Given the description of an element on the screen output the (x, y) to click on. 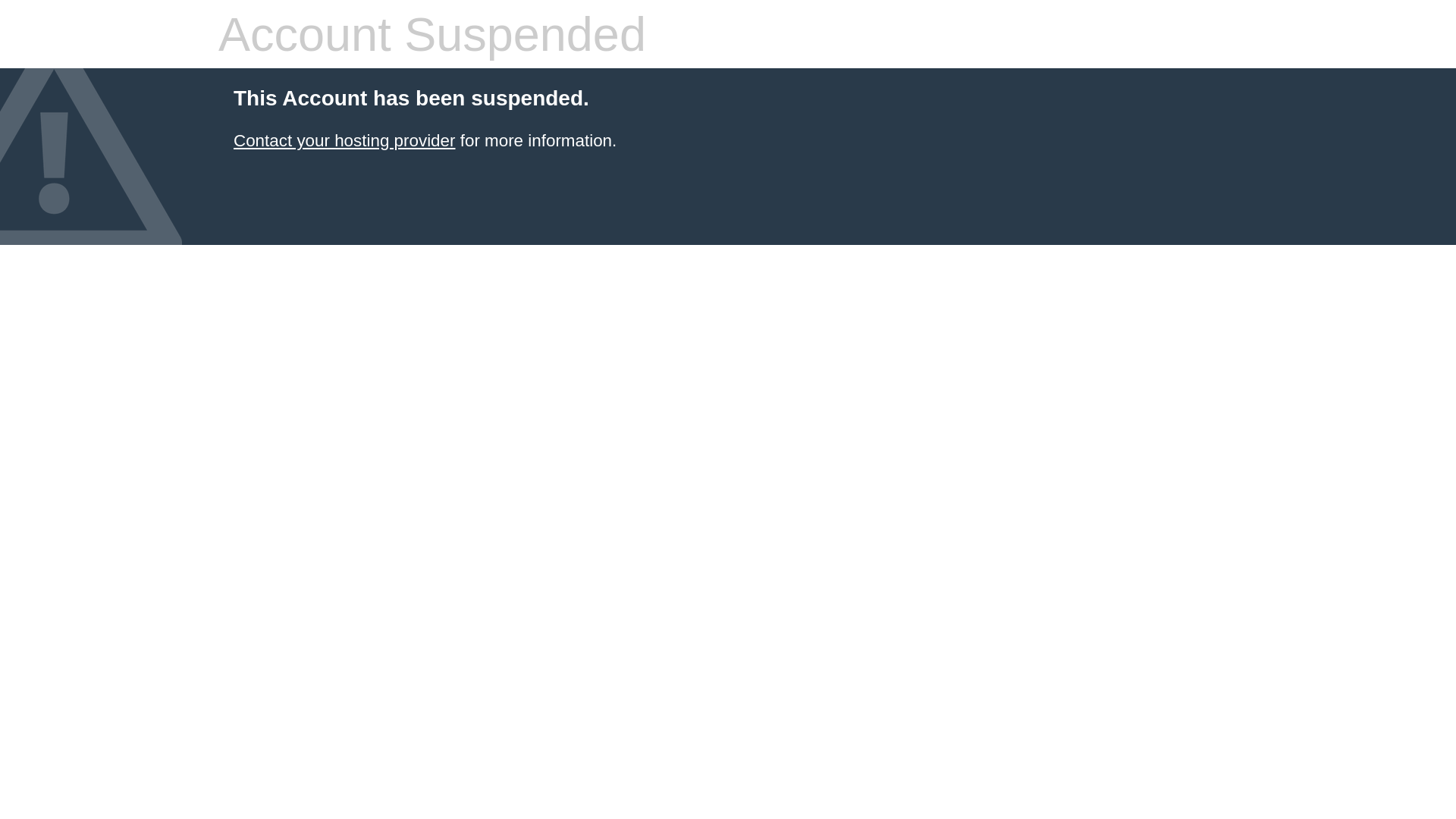
Contact your hosting provider Element type: text (344, 140)
